Given the description of an element on the screen output the (x, y) to click on. 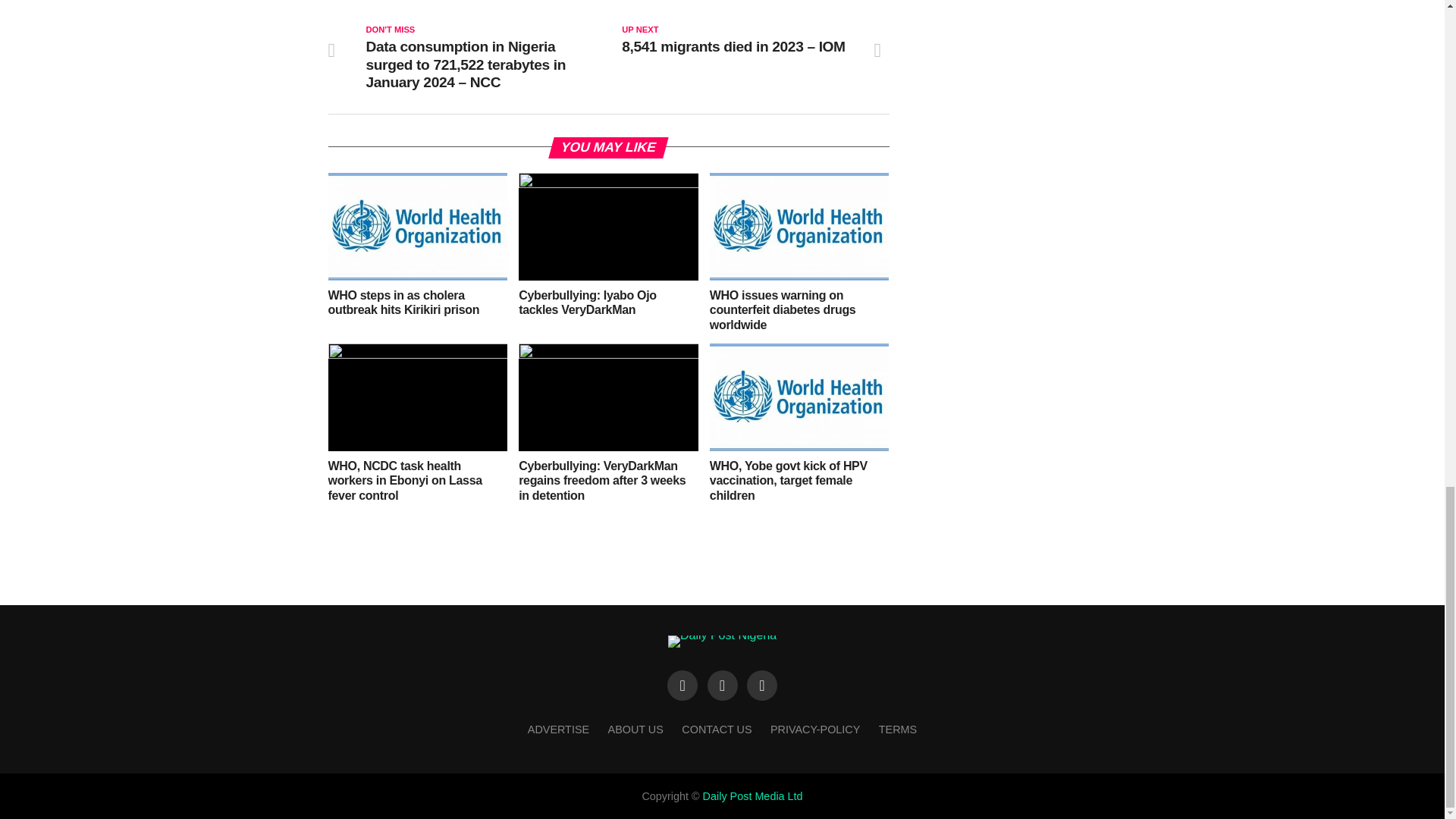
ABOUT US (635, 729)
ADVERTISE (558, 729)
